Given the description of an element on the screen output the (x, y) to click on. 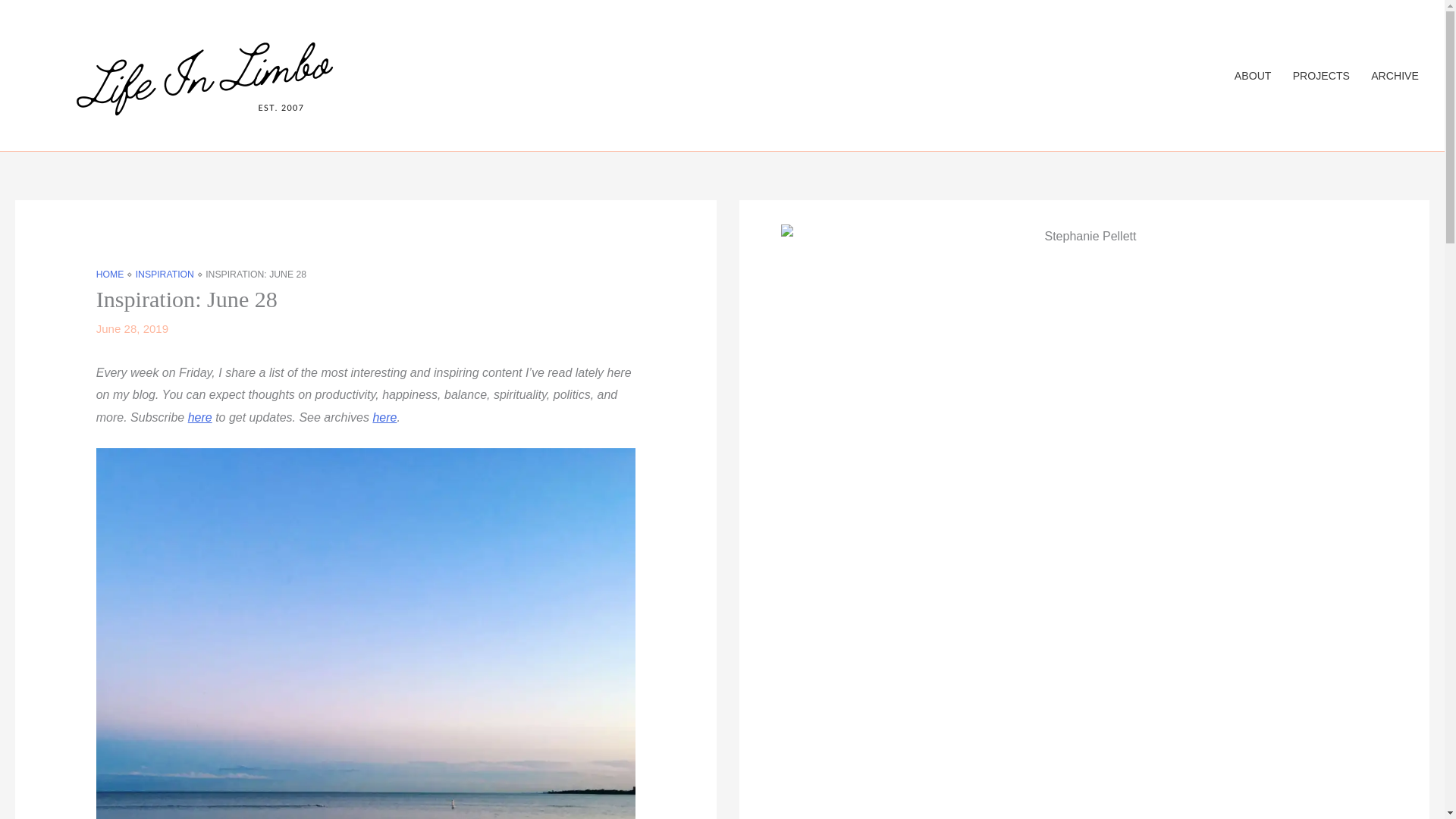
PROJECTS (1320, 75)
ARCHIVE (1394, 75)
here (199, 417)
here (384, 417)
INSPIRATION (164, 274)
HOME (109, 274)
ABOUT (1253, 75)
